Given the description of an element on the screen output the (x, y) to click on. 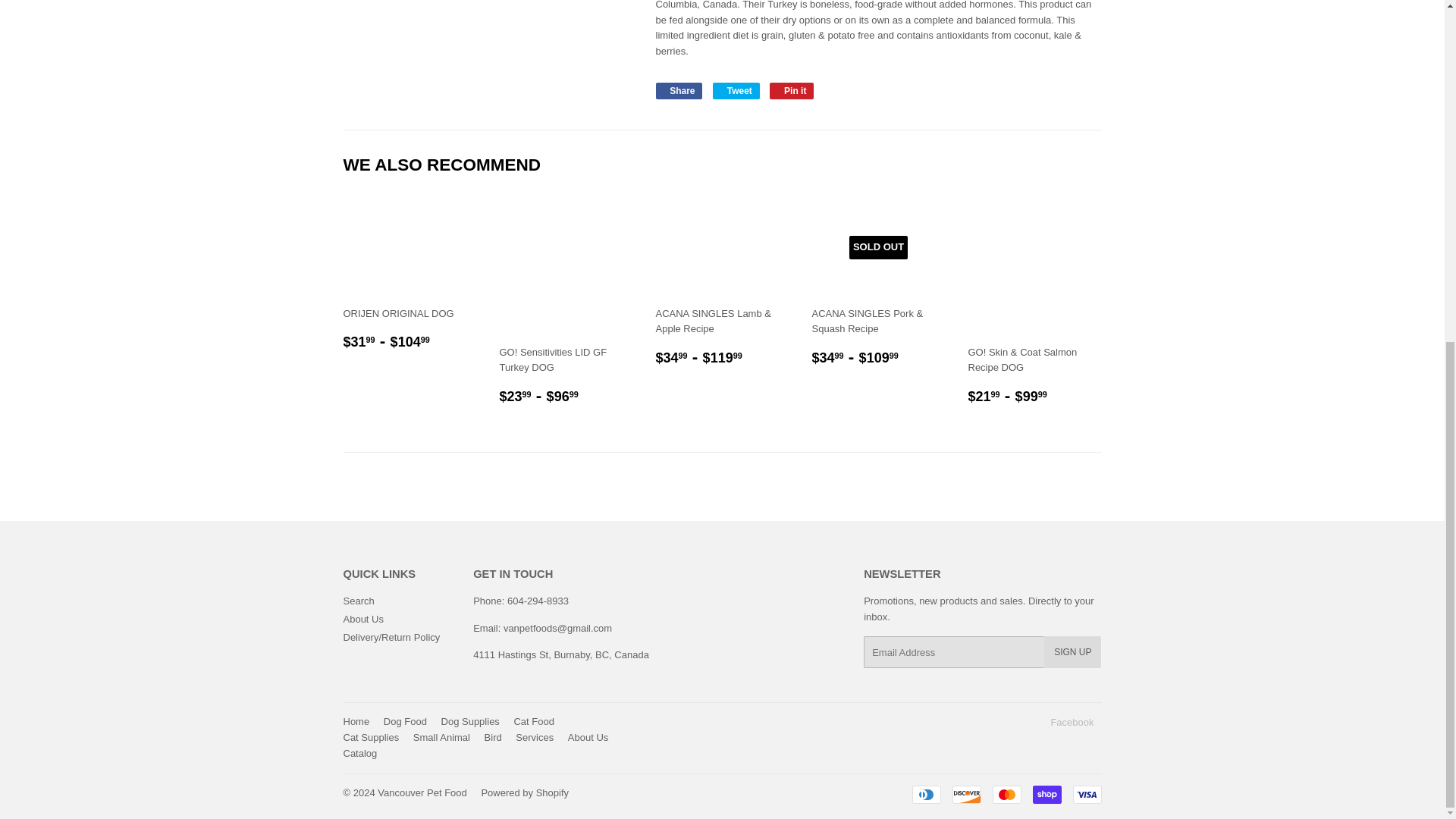
Pin on Pinterest (791, 90)
Mastercard (1005, 794)
Share on Facebook (678, 90)
Diners Club (925, 794)
Discover (966, 794)
Tweet on Twitter (736, 90)
Visa (1085, 794)
Shop Pay (1046, 794)
Vancouver Pet Food on Facebook (1071, 722)
